Given the description of an element on the screen output the (x, y) to click on. 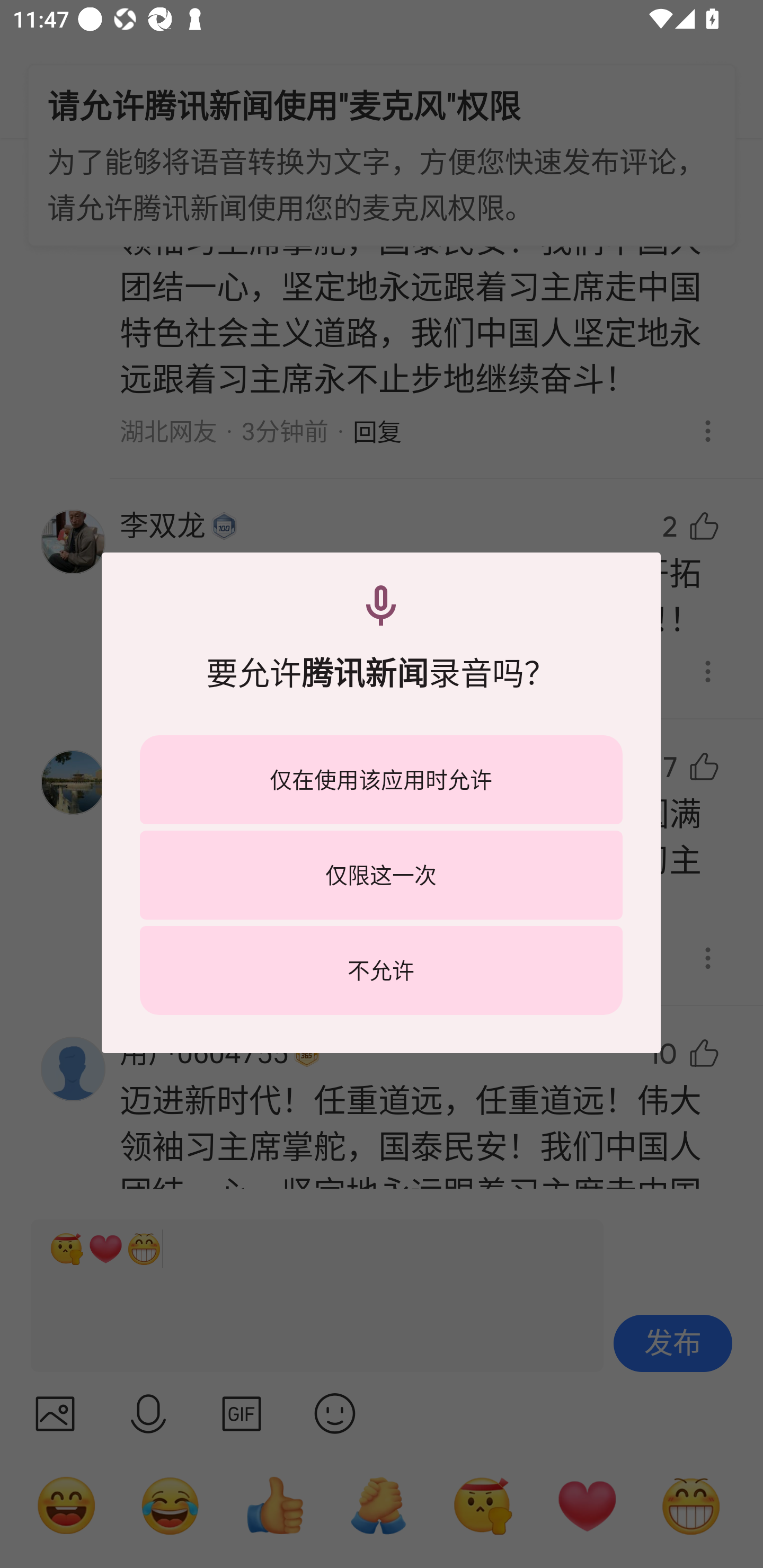
仅在使用该应用时允许 (380, 779)
仅限这一次 (380, 874)
不允许 (380, 970)
